Given the description of an element on the screen output the (x, y) to click on. 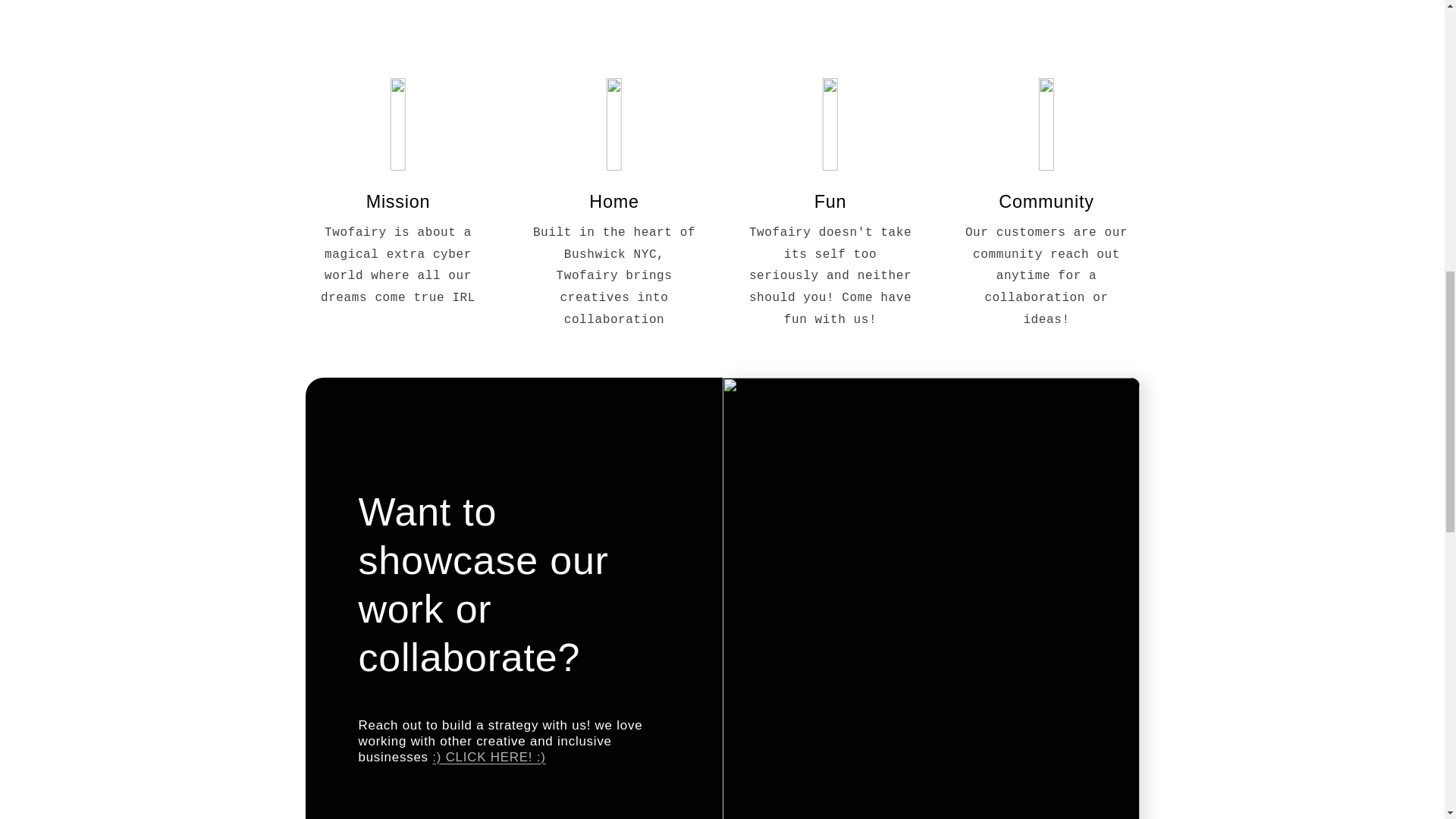
About Us (488, 757)
